Given the description of an element on the screen output the (x, y) to click on. 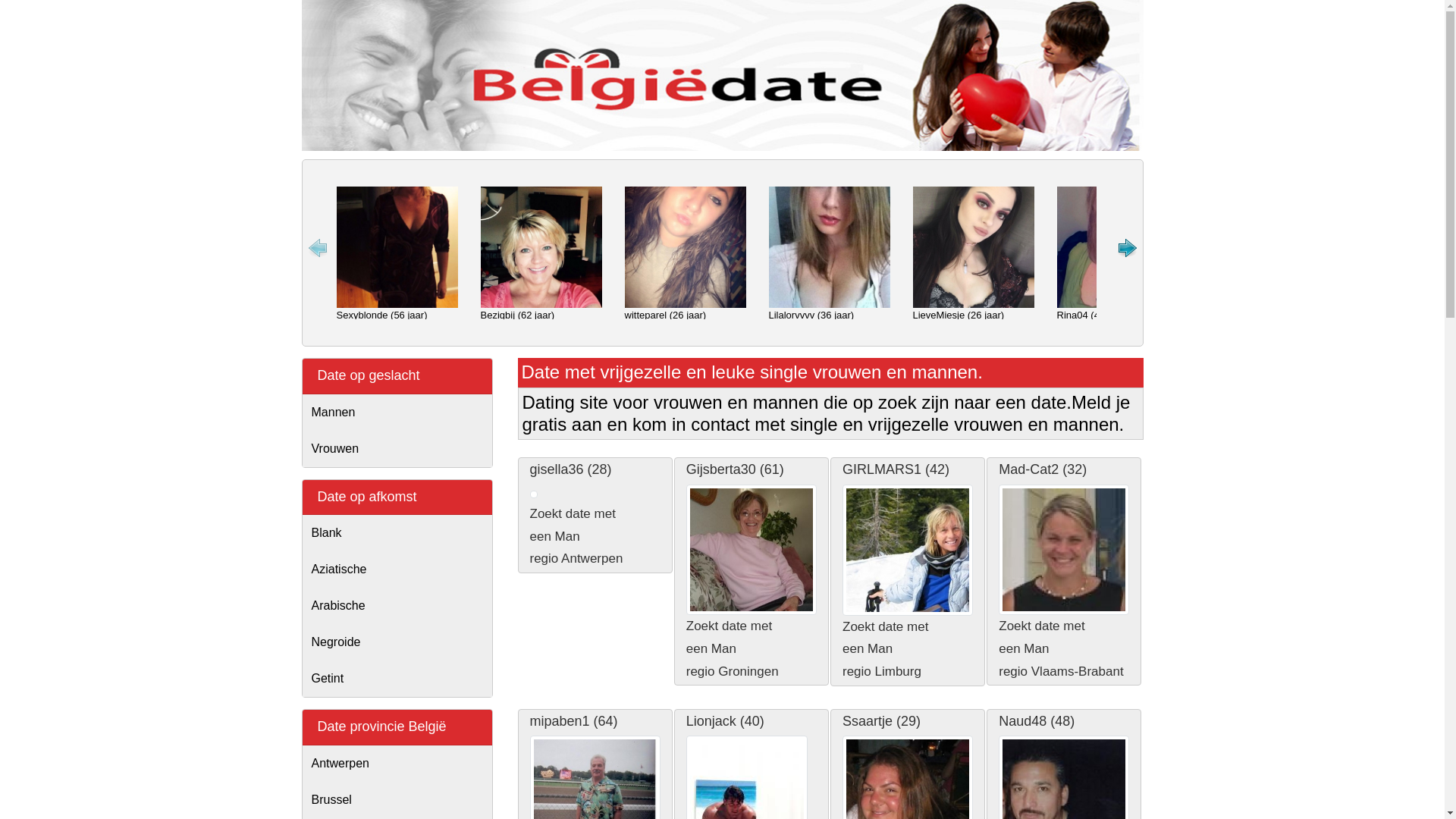
Blank Element type: text (396, 532)
Mannen Element type: text (396, 412)
Arabische Element type: text (396, 605)
Vrouwen Element type: text (396, 448)
Antwerpen Element type: text (396, 763)
Negroide Element type: text (396, 642)
Brussel Element type: text (396, 799)
Getint Element type: text (396, 678)
Aziatische Element type: text (396, 569)
